Given the description of an element on the screen output the (x, y) to click on. 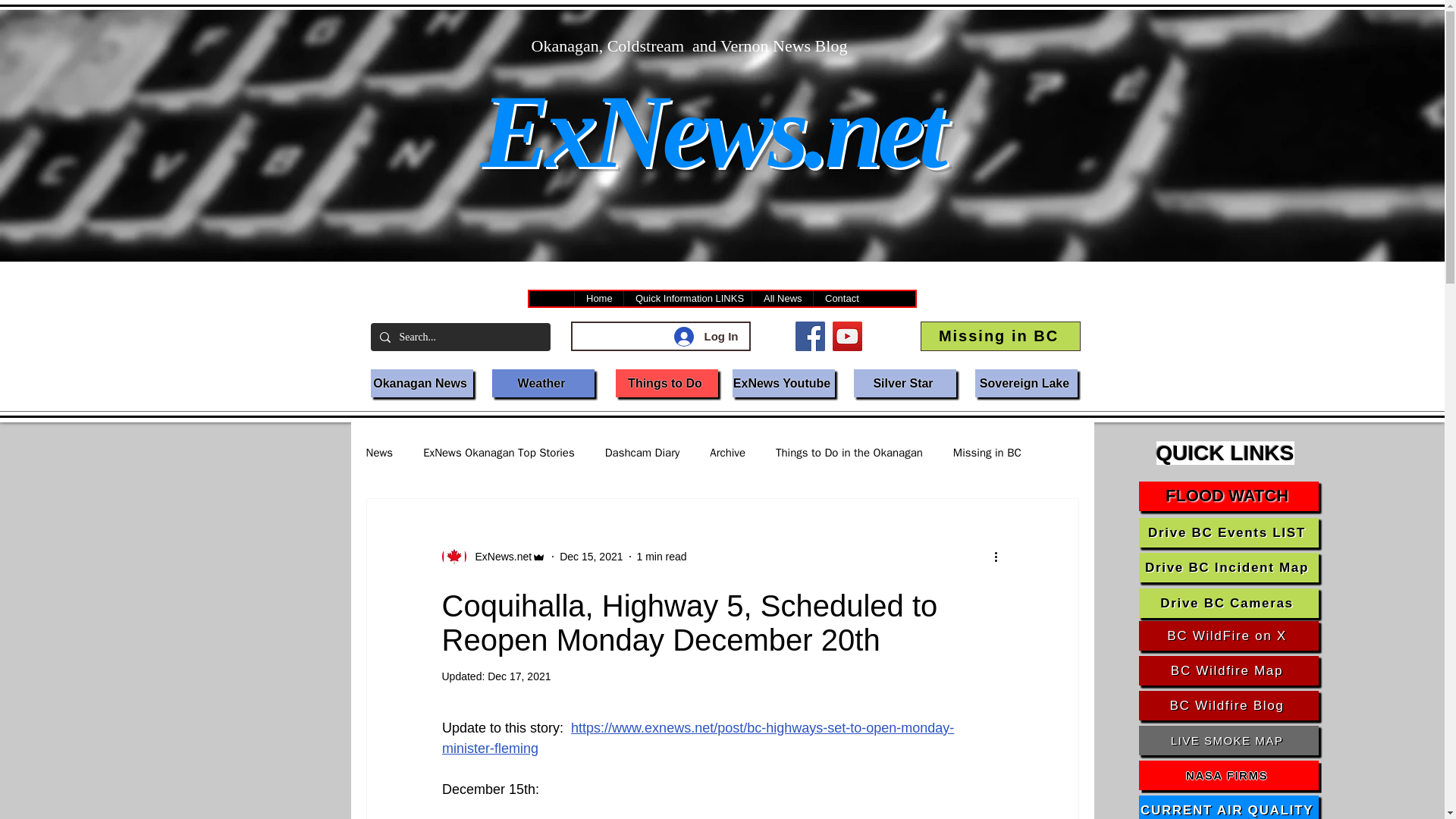
ExNews Okanagan Top Stories (499, 452)
Sovereign Lake (1026, 383)
Weather (543, 383)
Things to Do in the Okanagan (849, 452)
1 min read (662, 556)
Contact (840, 298)
News (379, 452)
All News (781, 298)
ExNews.net (498, 556)
Home (598, 298)
